Given the description of an element on the screen output the (x, y) to click on. 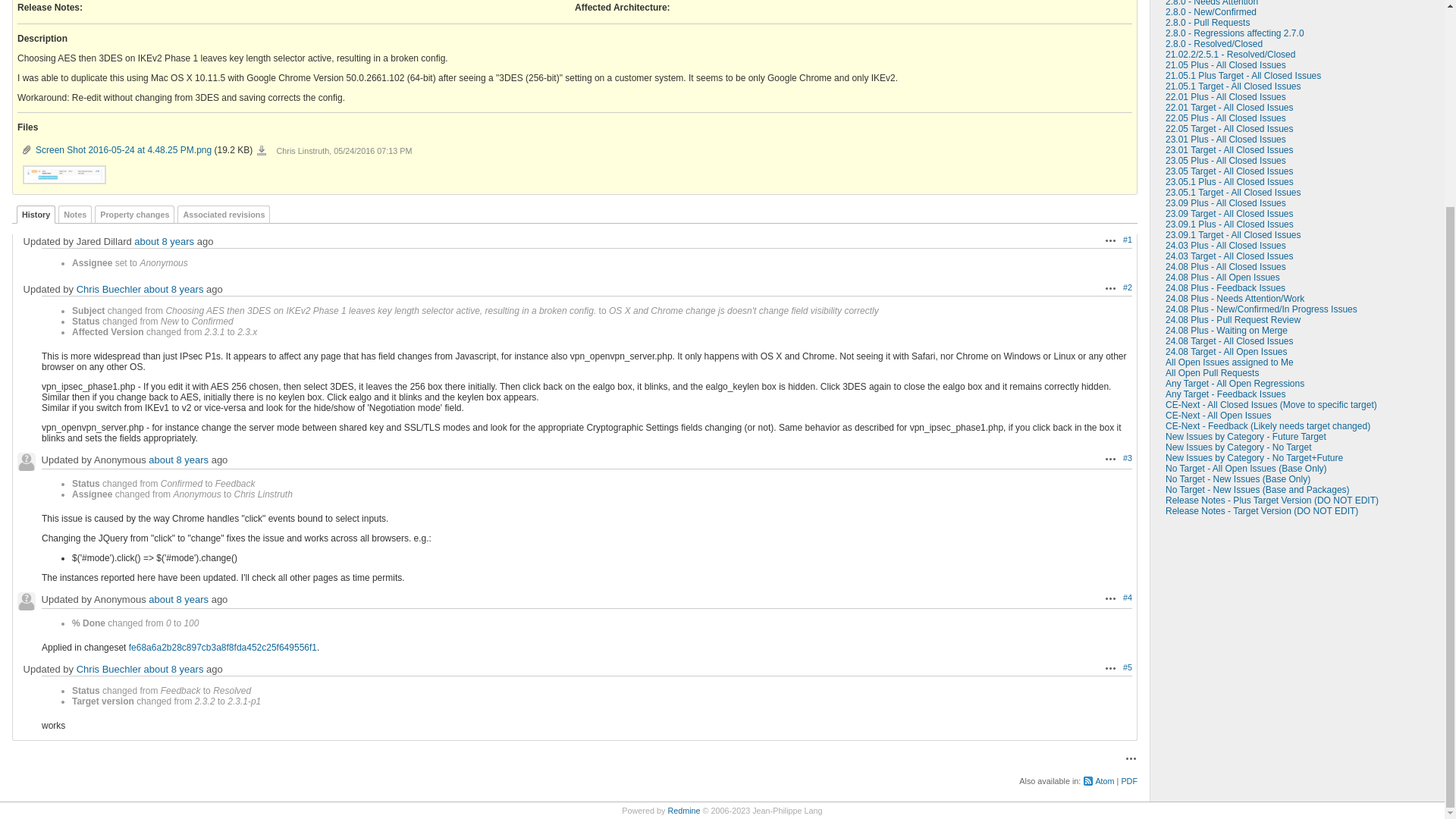
Actions (1110, 240)
Screen Shot 2016-05-24 at 4.48.25 PM.png (64, 173)
Control behavior of this issue in release notes (48, 7)
Actions (1110, 458)
Anonymous (25, 461)
Actions (1110, 287)
2.8.0 - Pull Requests (1207, 22)
21.05 Plus - All Closed Issues (1225, 64)
Download (261, 150)
2.8.0 - Needs Attention (1211, 3)
